Given the description of an element on the screen output the (x, y) to click on. 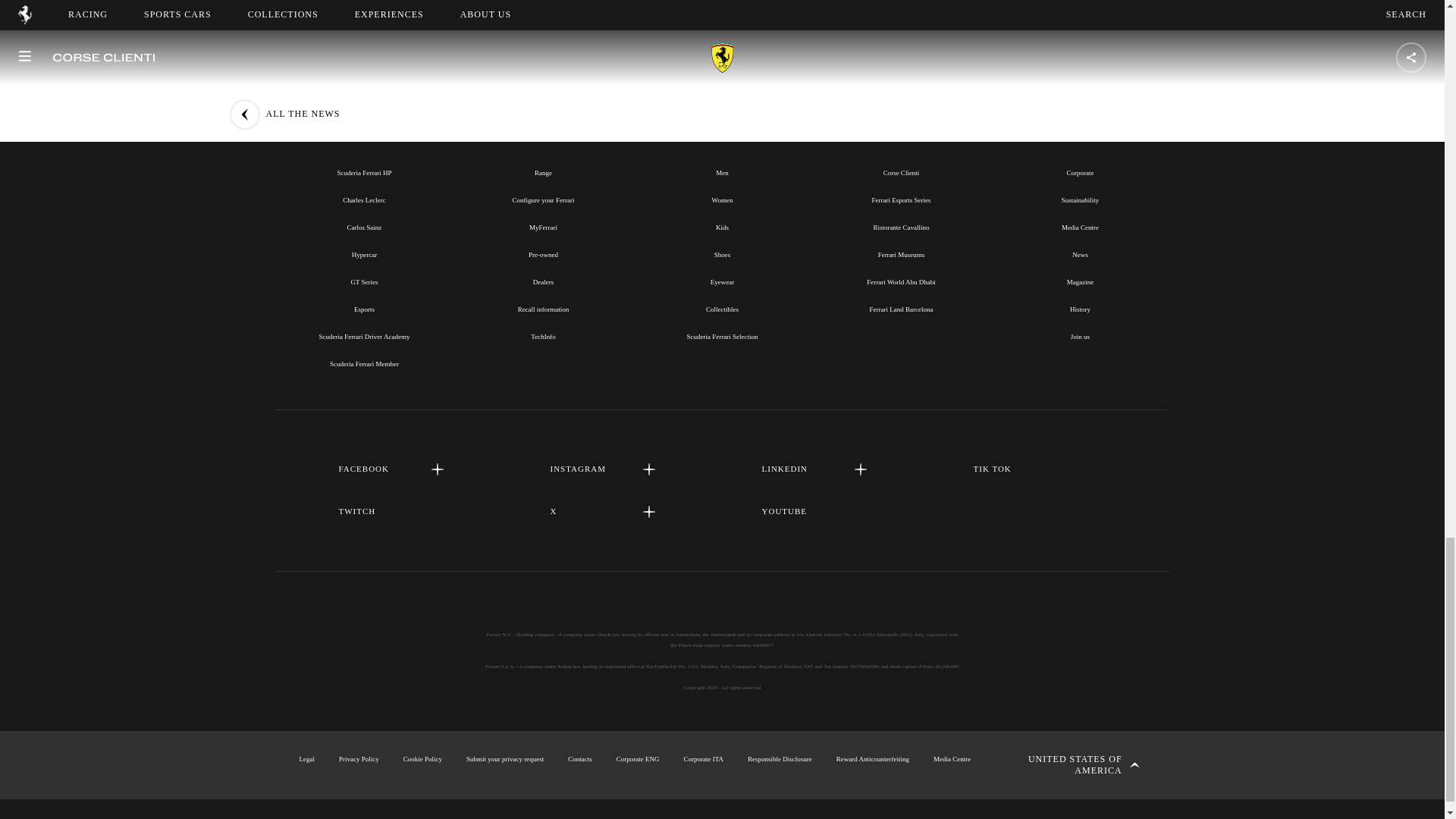
SPORTS CARS (542, 137)
COLLECTIONS (721, 137)
Range (542, 172)
Charles Leclerc (363, 199)
Men (722, 172)
TechInfo (542, 336)
Carlos Sainz (364, 226)
RACING (363, 137)
GT Series (363, 281)
Configure your Ferrari (543, 199)
Recall information (543, 308)
Pre-owned (542, 254)
SUBSCRIBE (721, 10)
Change country (1072, 765)
Scuderia Ferrari Member (364, 363)
